Given the description of an element on the screen output the (x, y) to click on. 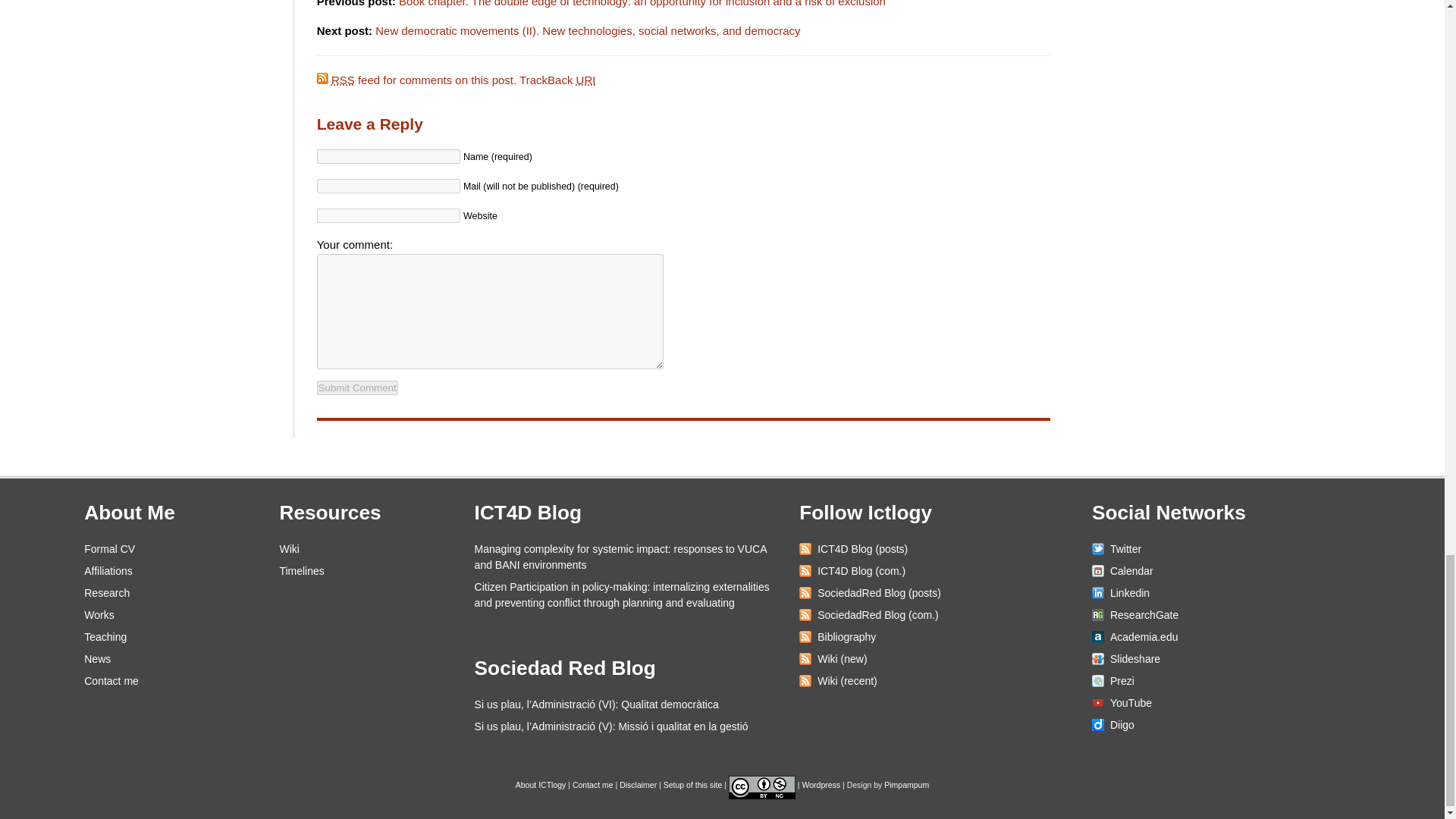
Submit Comment (357, 387)
